Given the description of an element on the screen output the (x, y) to click on. 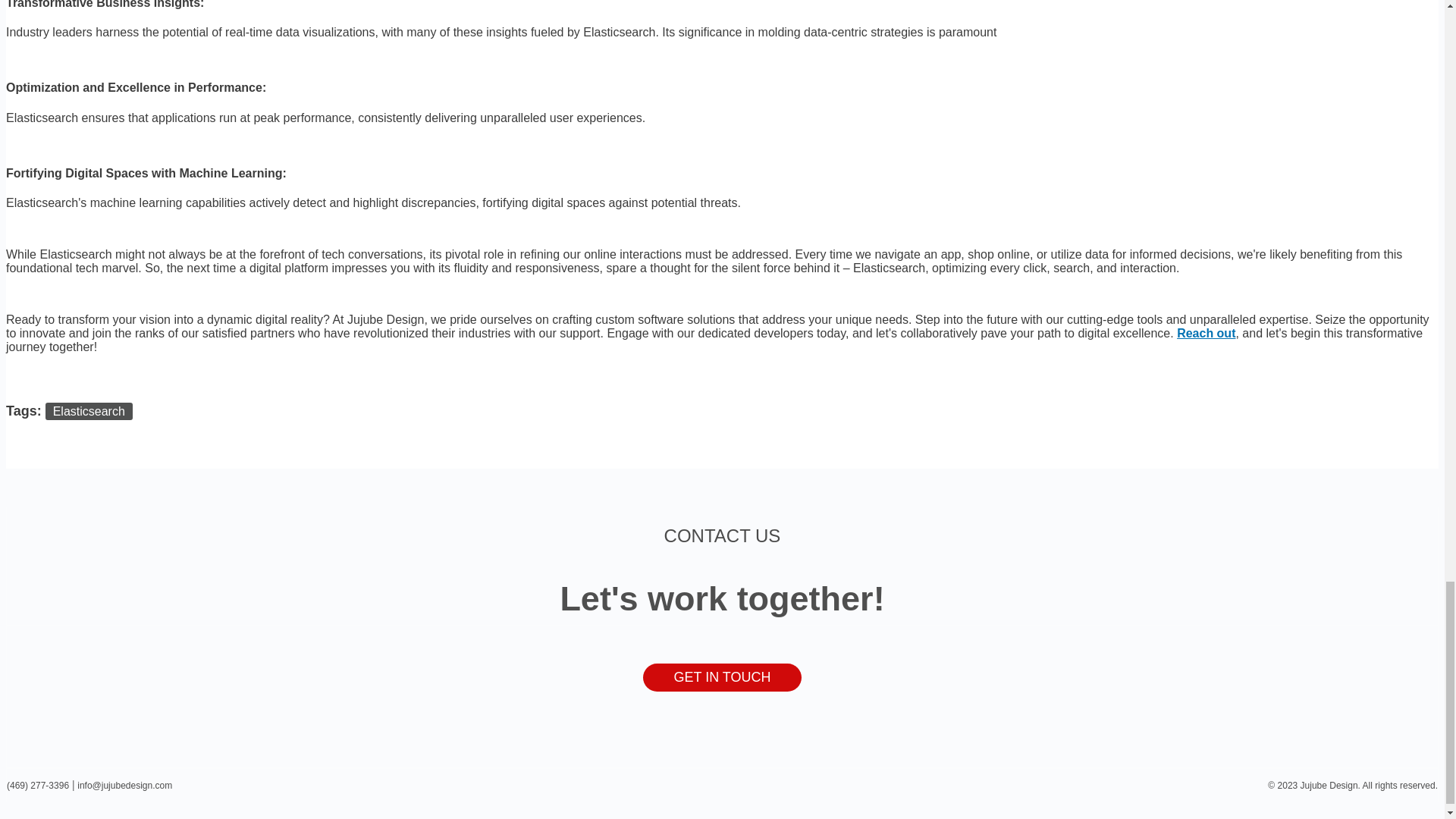
Elasticsearch (88, 411)
GET IN TOUCH (721, 677)
Reach out (1205, 332)
